Given the description of an element on the screen output the (x, y) to click on. 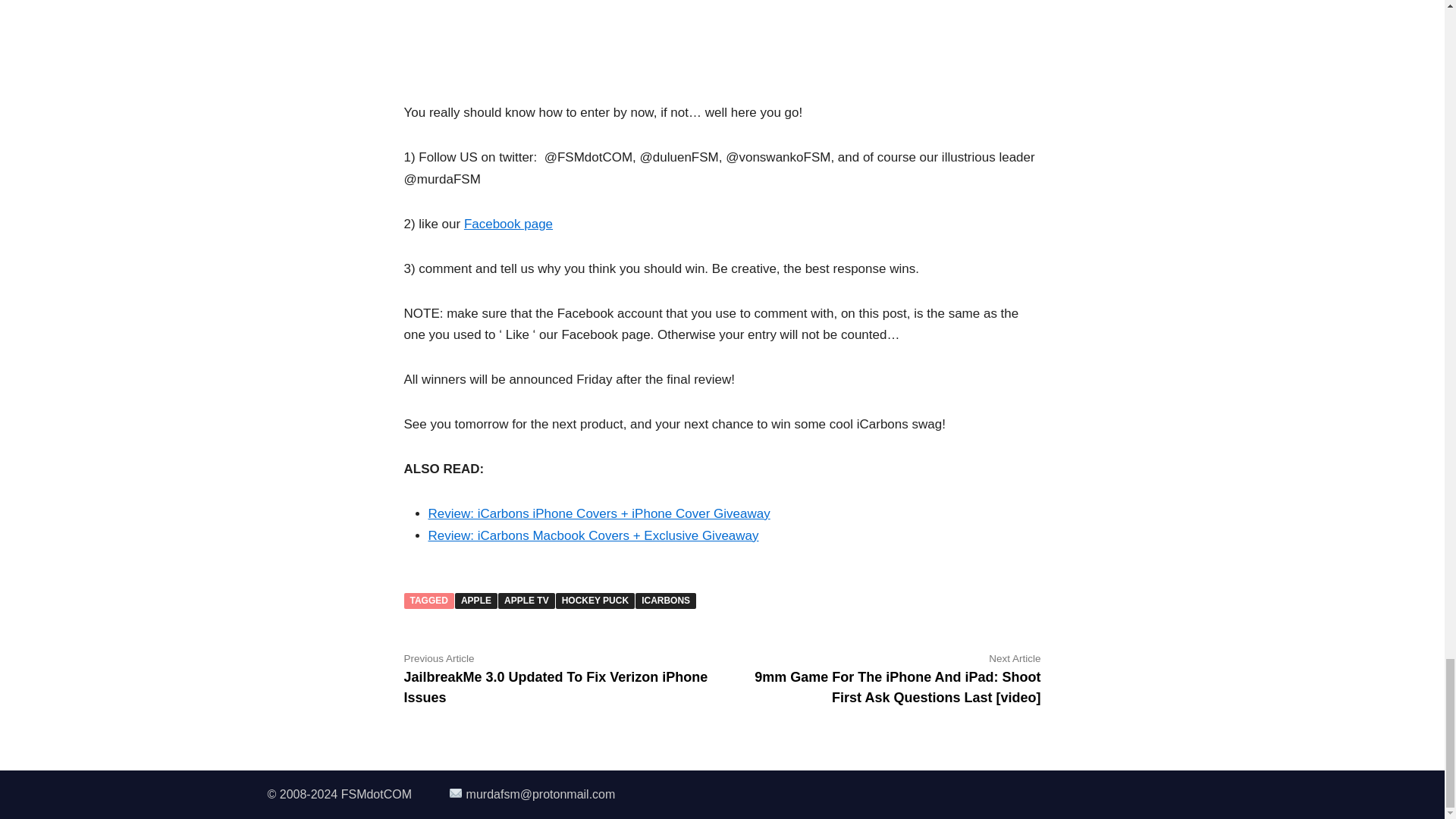
HOCKEY PUCK (595, 600)
ICARBONS (664, 600)
Facebook page (508, 223)
APPLE (475, 600)
APPLE TV (525, 600)
